Given the description of an element on the screen output the (x, y) to click on. 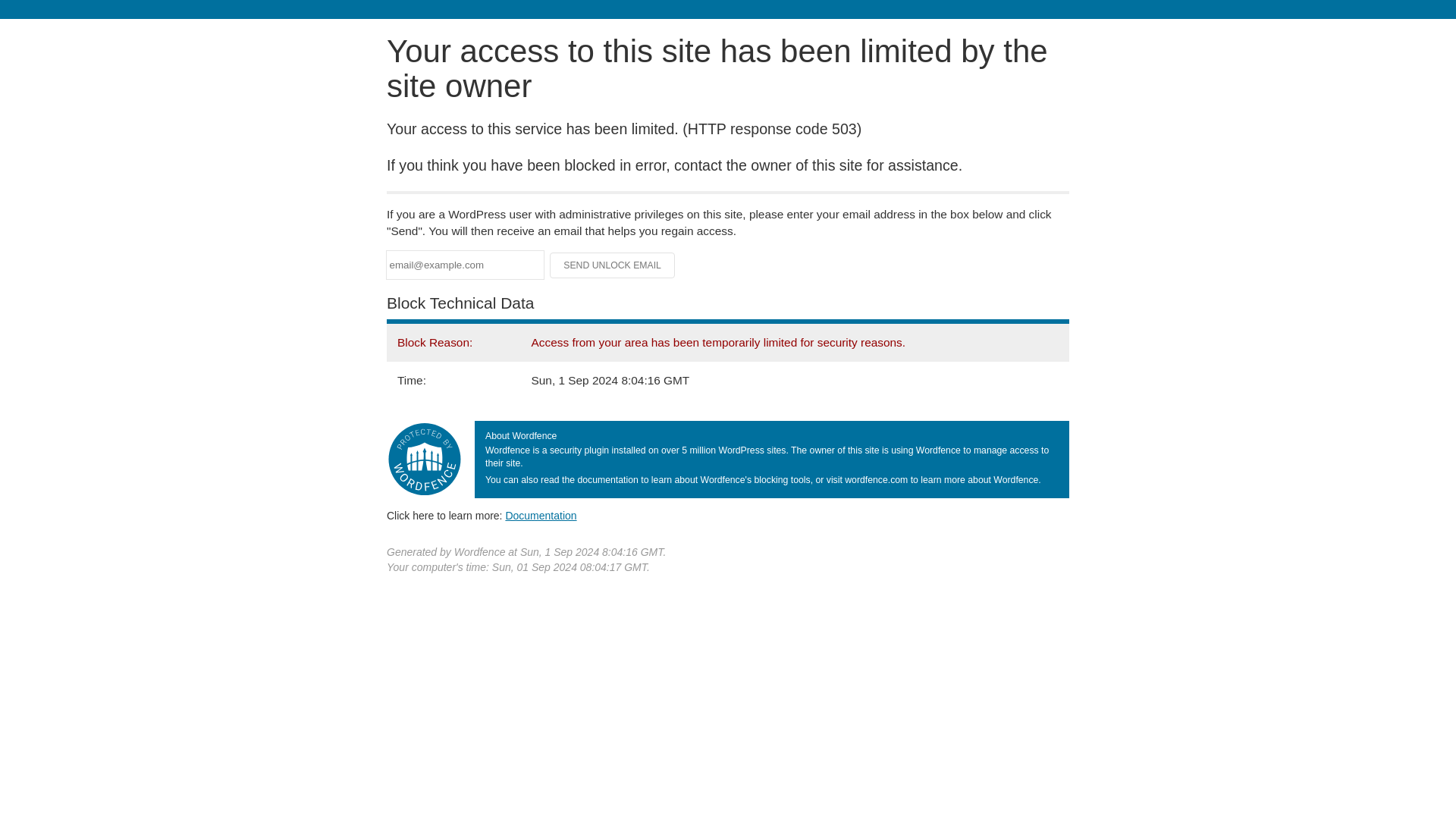
Documentation (540, 515)
Send Unlock Email (612, 265)
Send Unlock Email (612, 265)
